Given the description of an element on the screen output the (x, y) to click on. 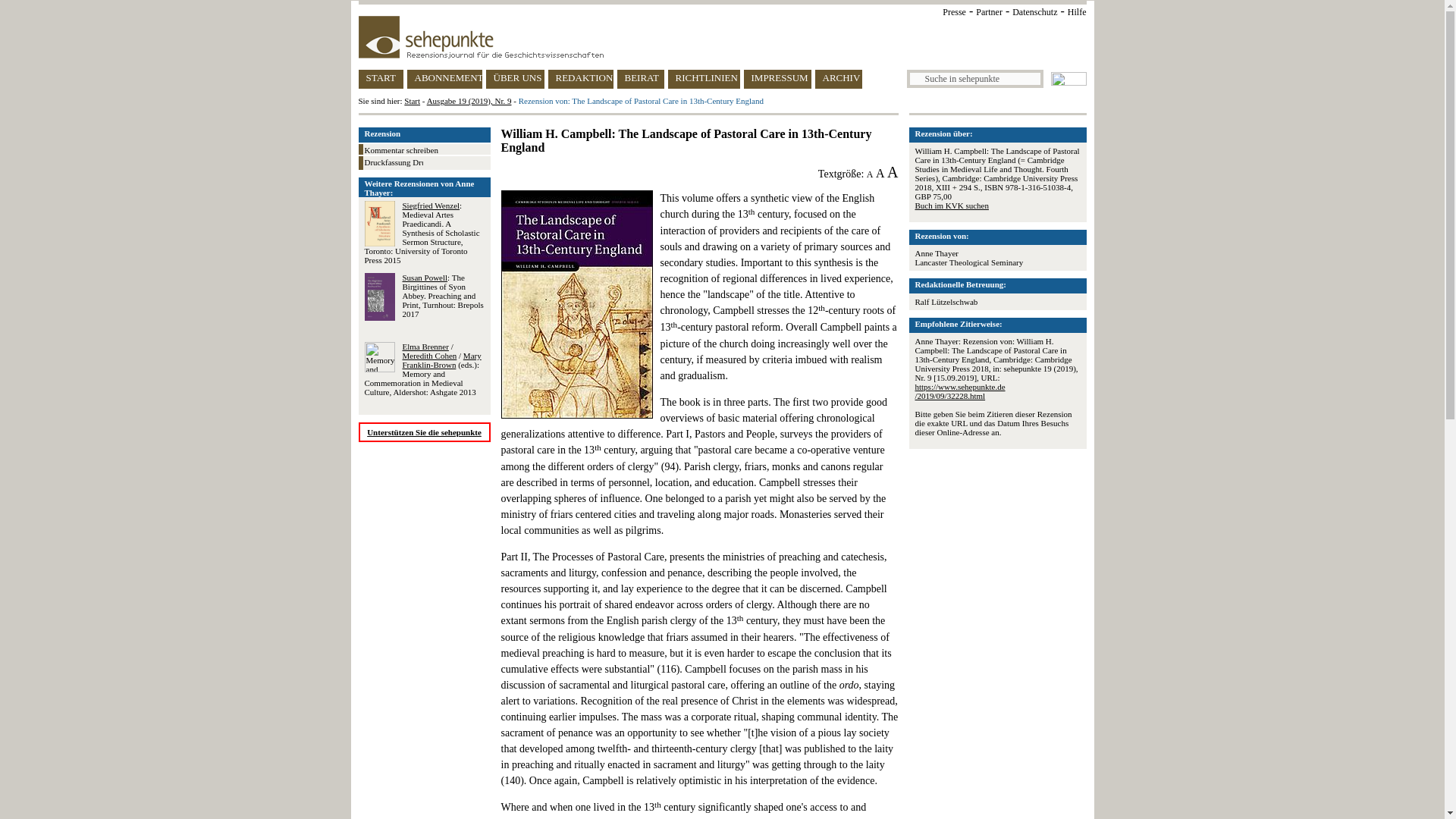
Abonnement (443, 78)
Partner (989, 11)
Start (412, 100)
Buch im KVK suchen (951, 204)
sehepunkte Startseite (412, 100)
Datenschutz (1034, 11)
Hilfe (1076, 11)
Presse (954, 11)
Hilfe (1076, 11)
